Given the description of an element on the screen output the (x, y) to click on. 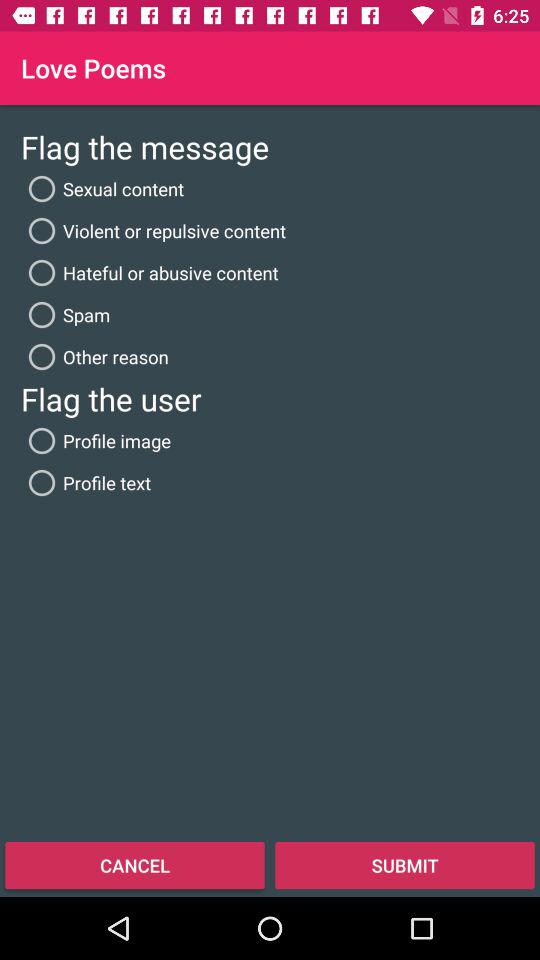
select violent or repulsive radio button (153, 230)
